Given the description of an element on the screen output the (x, y) to click on. 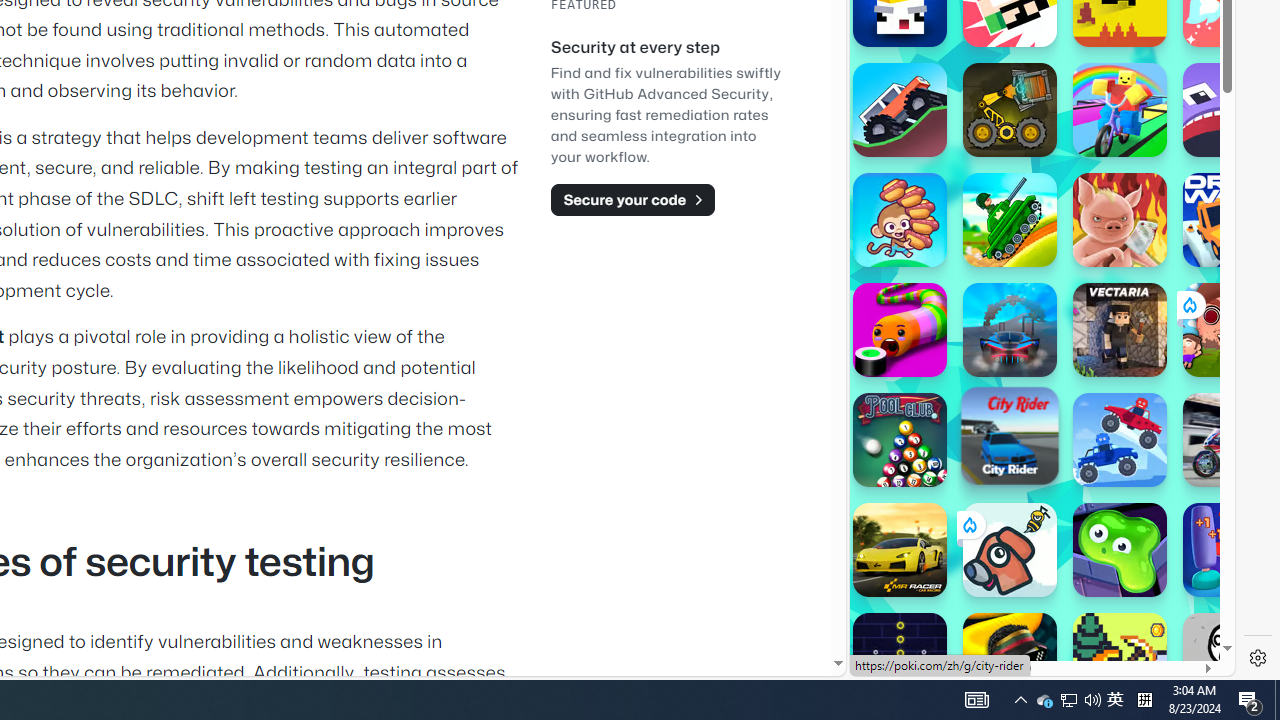
Combat Reloaded Combat Reloaded poki.com (1092, 245)
Hills of Steel (1009, 219)
Snake.is MLG Edition (1009, 659)
Eat the world (1229, 329)
Snake.is MLG Edition Snake.is MLG Edition (1009, 659)
BoxRob (1009, 109)
Rainbow Obby Rainbow Obby (1119, 109)
Slime Laboratory Slime Laboratory (1119, 549)
